Given the description of an element on the screen output the (x, y) to click on. 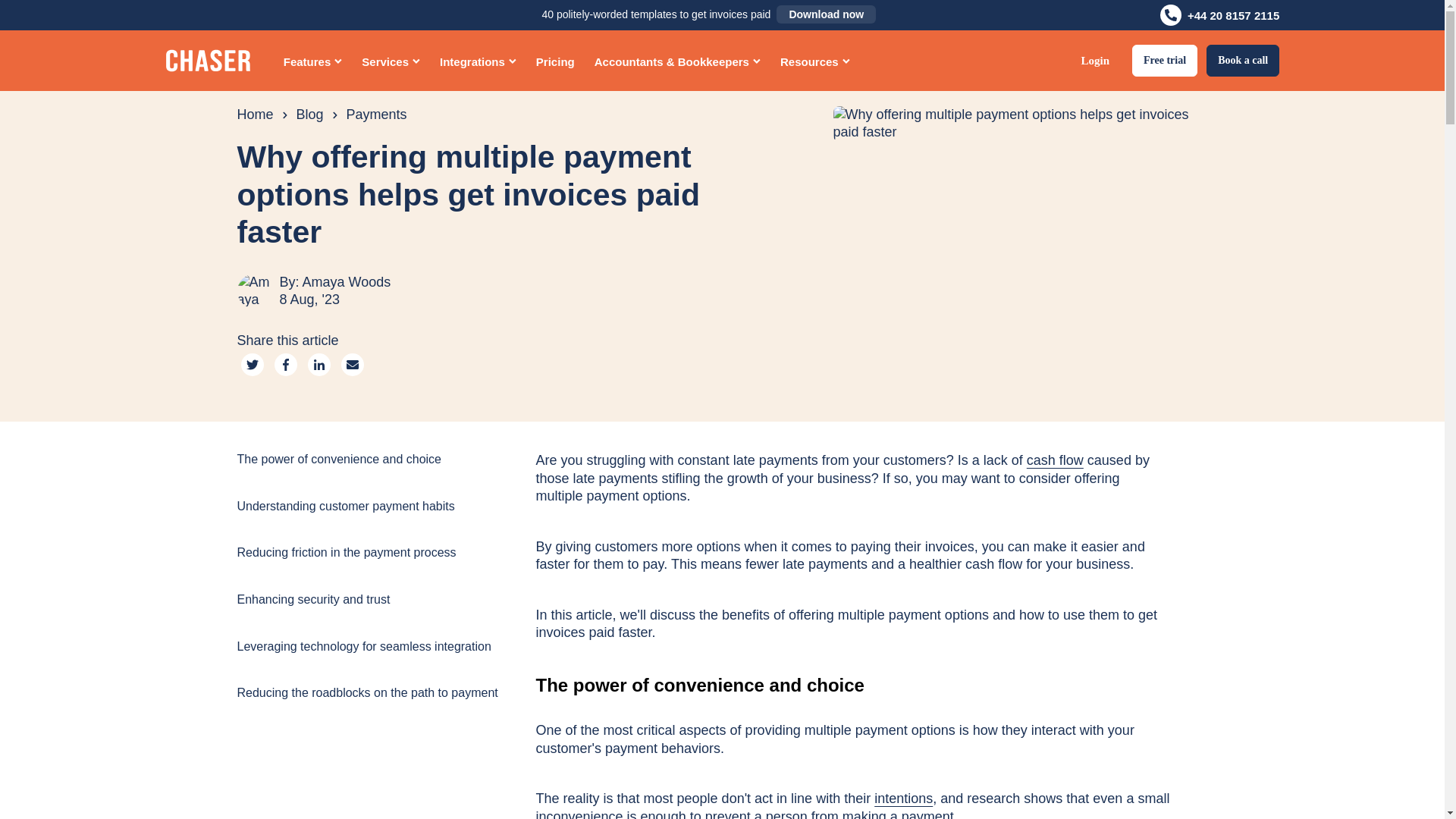
Services (390, 59)
The power of convenience and choice (852, 651)
Pricing (555, 59)
Download now (826, 13)
Integrations (478, 59)
Features (313, 59)
